Given the description of an element on the screen output the (x, y) to click on. 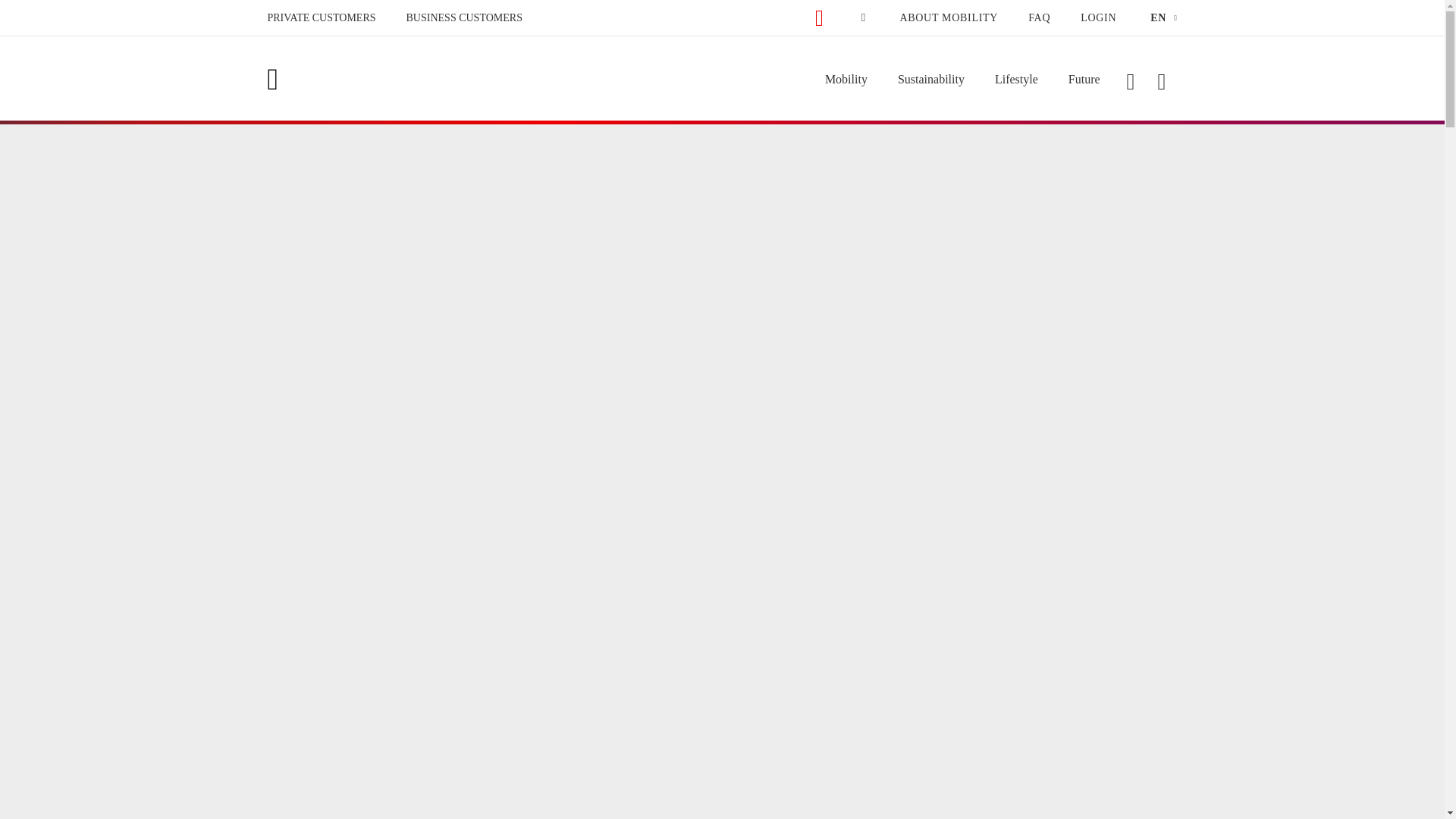
LOGIN (1098, 18)
ABOUT MOBILITY (948, 18)
Mobility (845, 79)
Sustainability (930, 79)
FAQ (1039, 18)
Lifestyle (1015, 79)
Future (1083, 79)
PRIVATE CUSTOMERS (320, 18)
BUSINESS CUSTOMERS (464, 18)
